Given the description of an element on the screen output the (x, y) to click on. 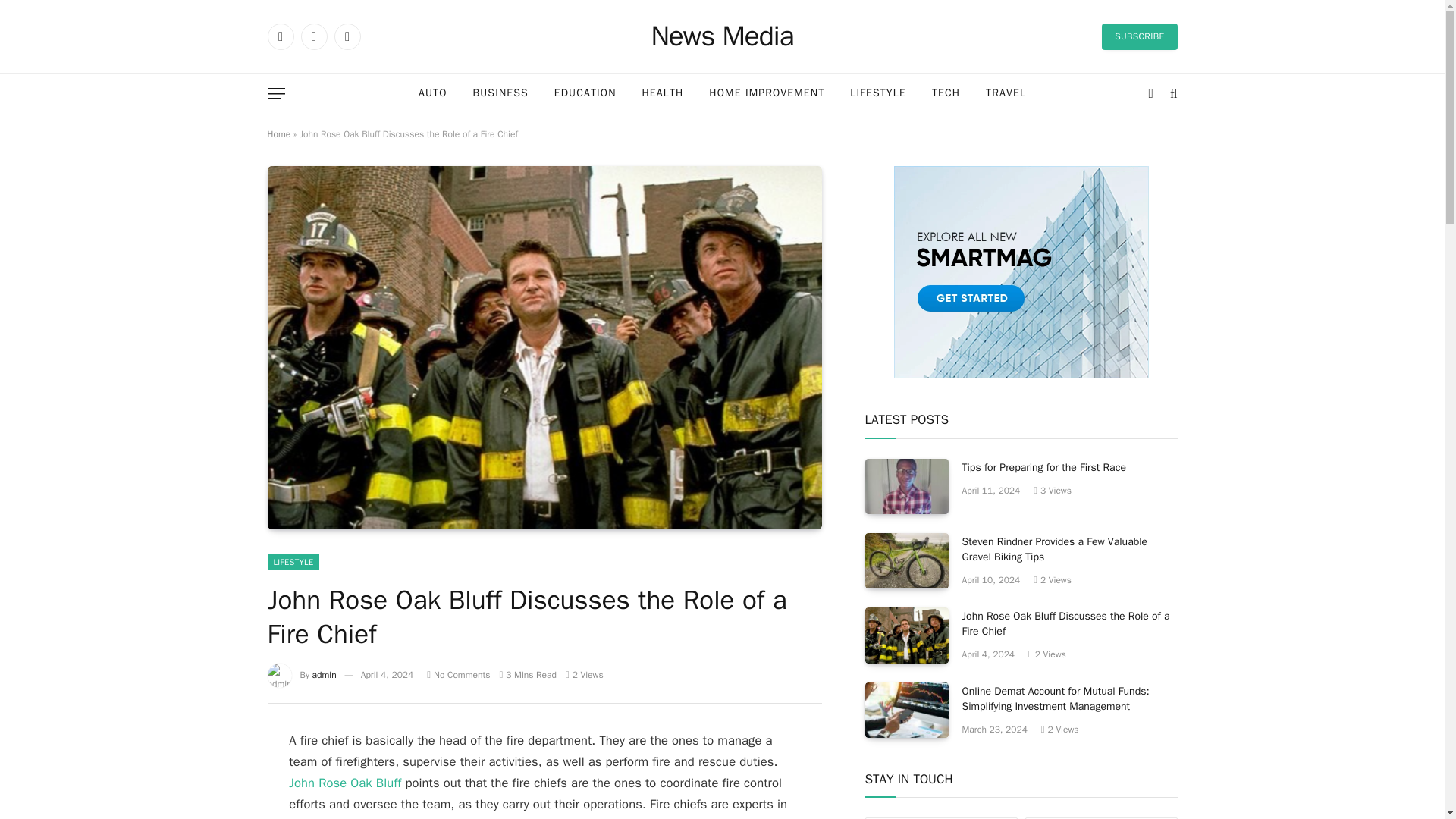
Home (277, 133)
BUSINESS (500, 93)
AUTO (433, 93)
Switch to Dark Design - easier on eyes. (1150, 92)
HEALTH (662, 93)
2 Article Views (585, 674)
SUBSCRIBE (1139, 35)
TRAVEL (1005, 93)
Instagram (346, 35)
News Media (721, 36)
